Given the description of an element on the screen output the (x, y) to click on. 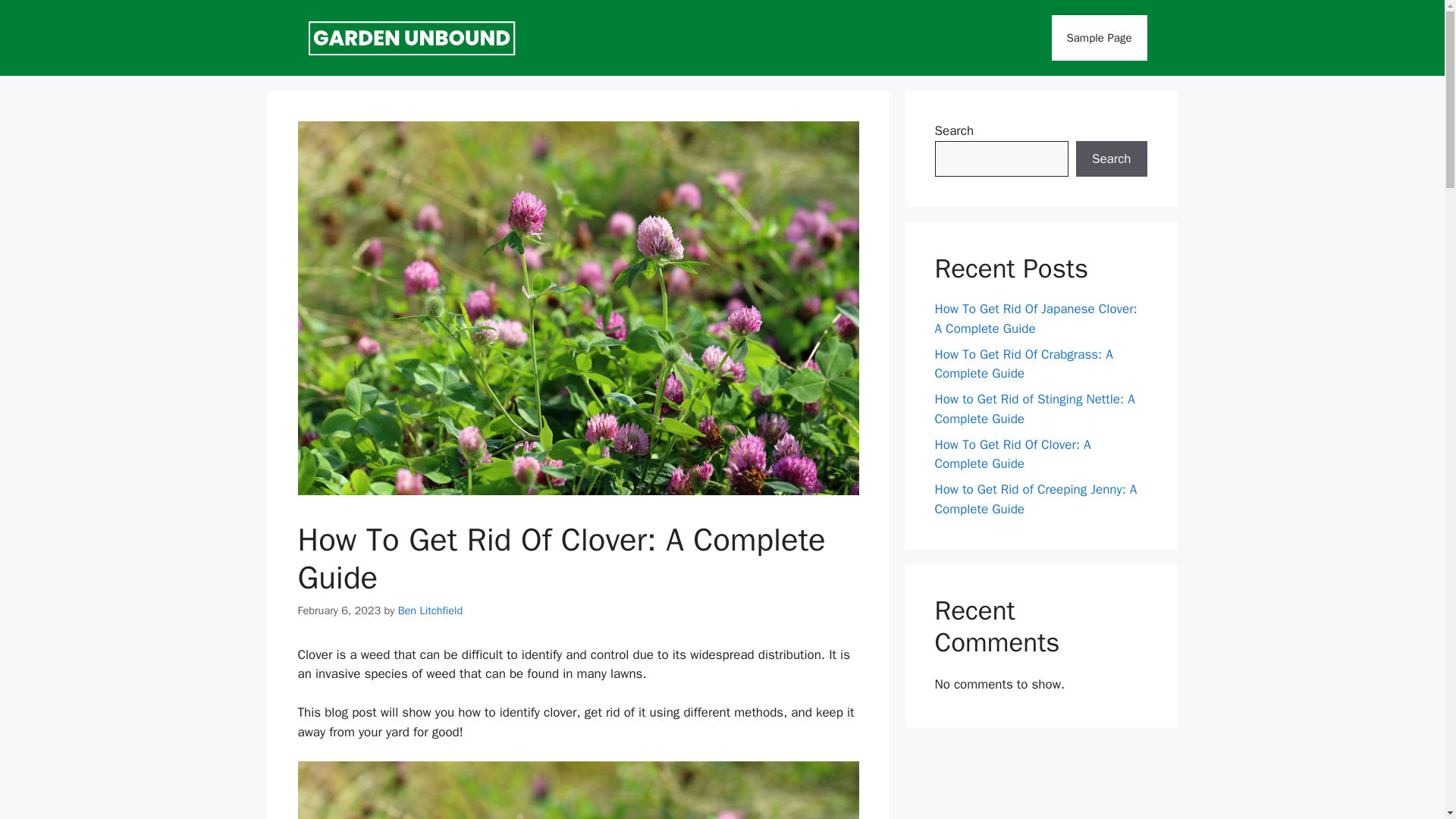
Search (1111, 158)
How To Get Rid Of Japanese Clover: A Complete Guide (1035, 318)
Ben Litchfield (430, 610)
Sample Page (1099, 37)
How To Get Rid Of Clover: A Complete Guide (1012, 454)
View all posts by Ben Litchfield (430, 610)
How To Get Rid Of Crabgrass: A Complete Guide (1023, 363)
How to Get Rid of Stinging Nettle: A Complete Guide (1034, 408)
How to Get Rid of Creeping Jenny: A Complete Guide (1035, 498)
